Given the description of an element on the screen output the (x, y) to click on. 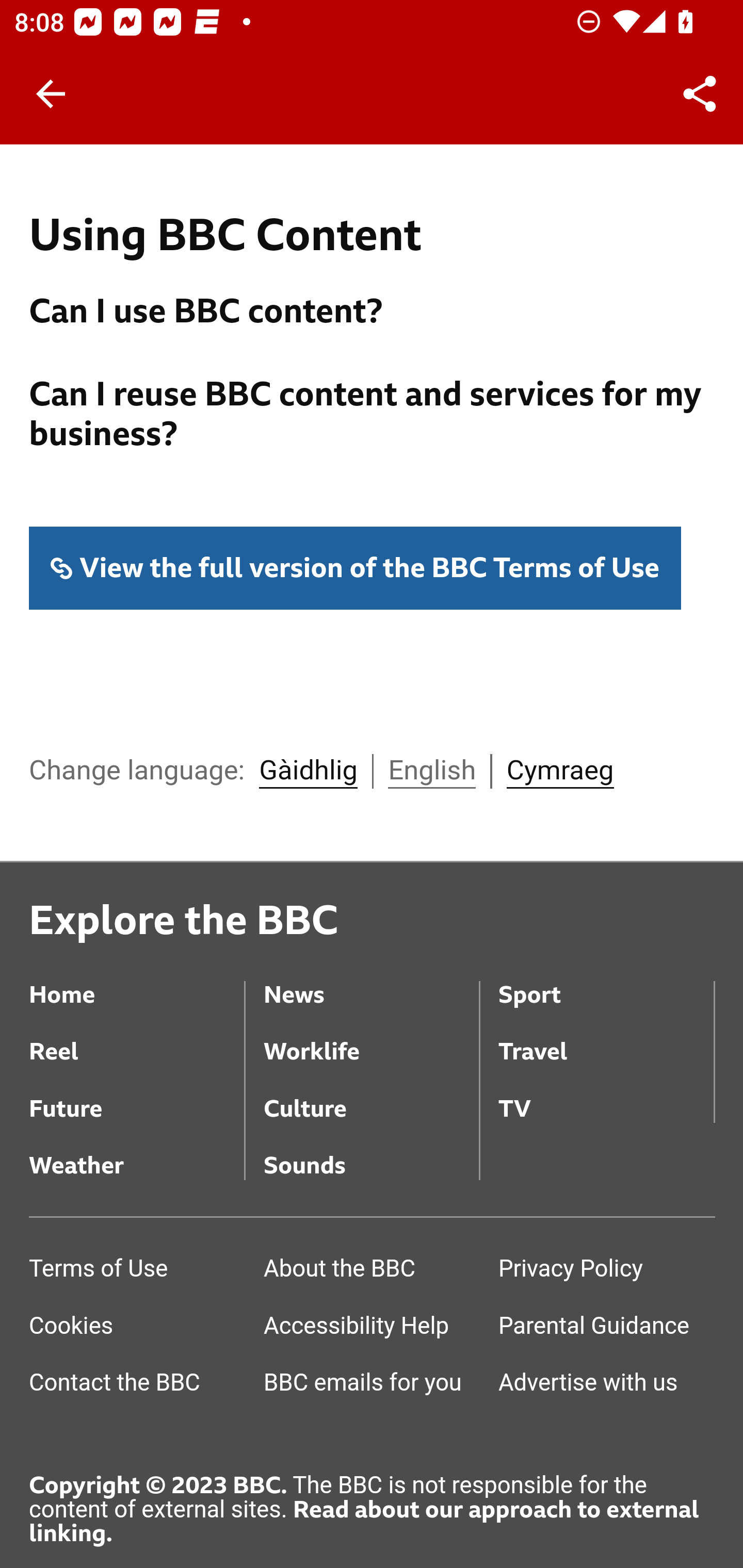
Back (50, 93)
Share (699, 93)
Can I use BBC content? (372, 313)
View the full version of the BBC Terms of Use (355, 568)
Gàidhlig (307, 772)
English (431, 772)
Cymraeg (559, 772)
Home (136, 981)
News (370, 981)
Sport (606, 981)
Reel (136, 1038)
Worklife (370, 1038)
Travel (606, 1038)
Future (136, 1095)
Culture (370, 1095)
TV (606, 1095)
Weather (136, 1152)
Sounds (370, 1152)
Terms of Use (136, 1270)
About the BBC (370, 1270)
Privacy Policy (606, 1270)
Cookies (136, 1327)
Accessibility Help (370, 1327)
Parental Guidance (606, 1327)
Contact the BBC (136, 1385)
BBC emails for you (370, 1385)
Advertise with us (606, 1385)
Read about our approach to external linking. (364, 1522)
